Given the description of an element on the screen output the (x, y) to click on. 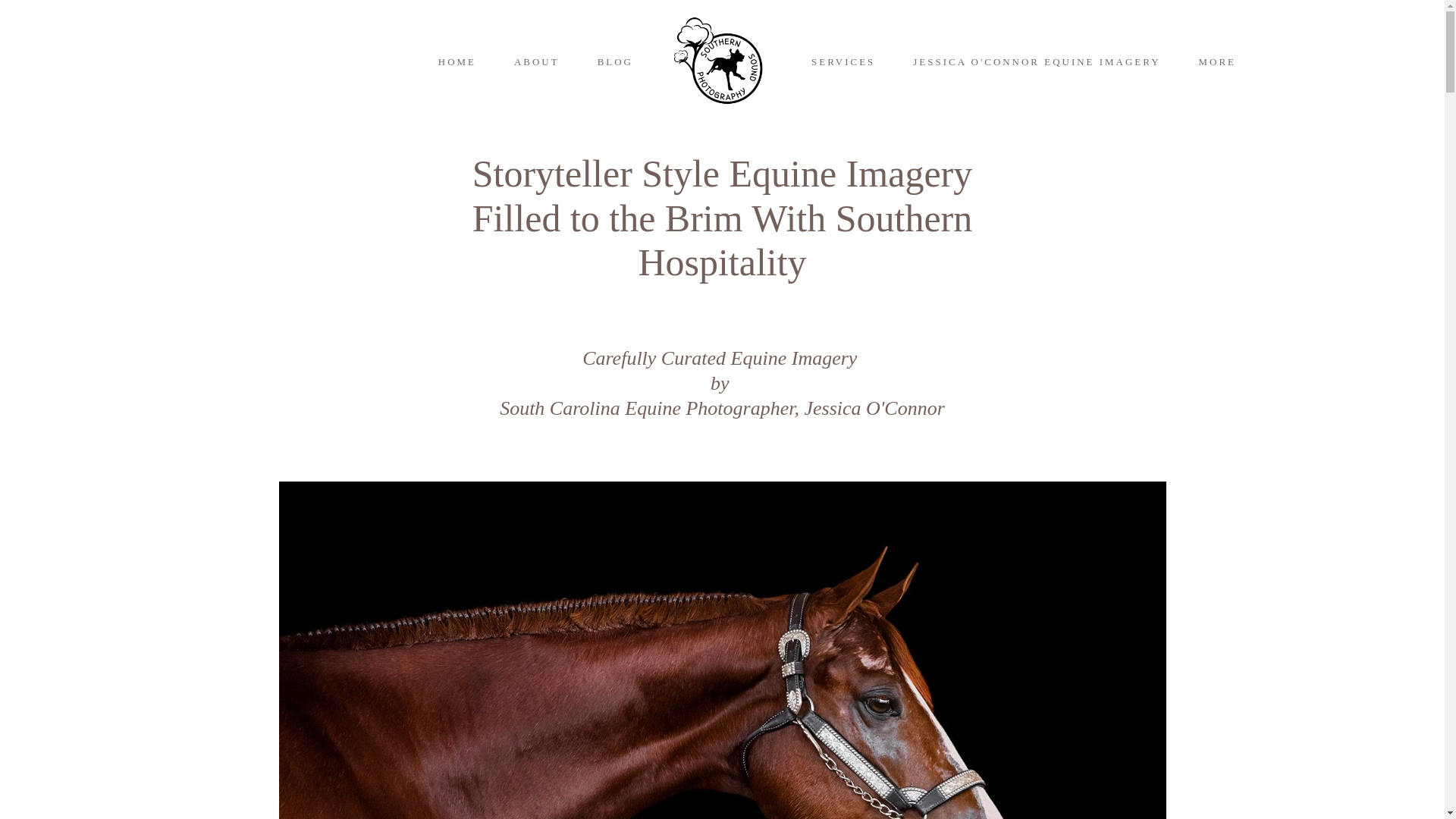
ABOUT (536, 61)
JESSICA O'CONNOR EQUINE IMAGERY (1036, 61)
BLOG (615, 61)
HOME (457, 61)
MORE (1222, 61)
SERVICES (842, 61)
